Given the description of an element on the screen output the (x, y) to click on. 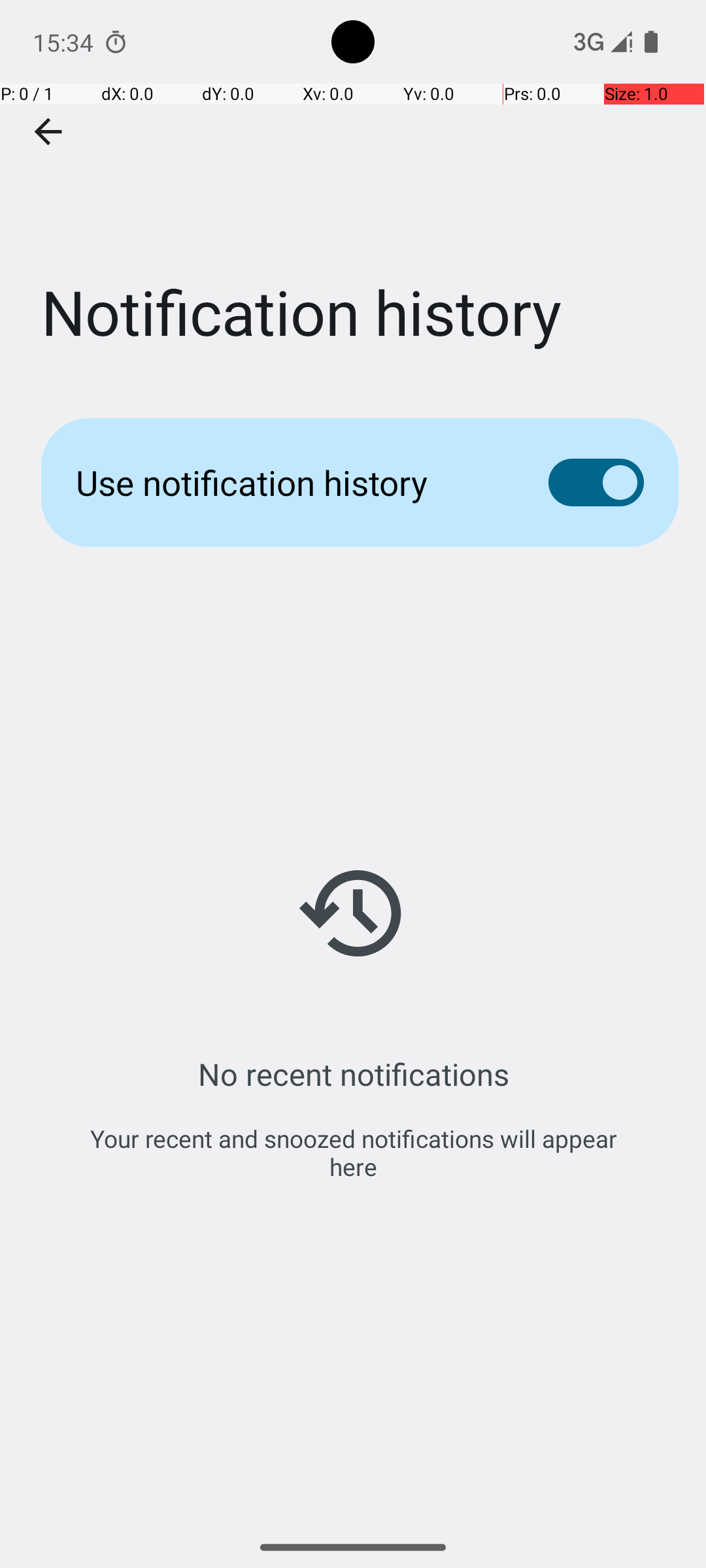
No recent notifications Element type: android.widget.TextView (352, 1073)
Your recent and snoozed notifications will appear here Element type: android.widget.TextView (352, 1152)
